Given the description of an element on the screen output the (x, y) to click on. 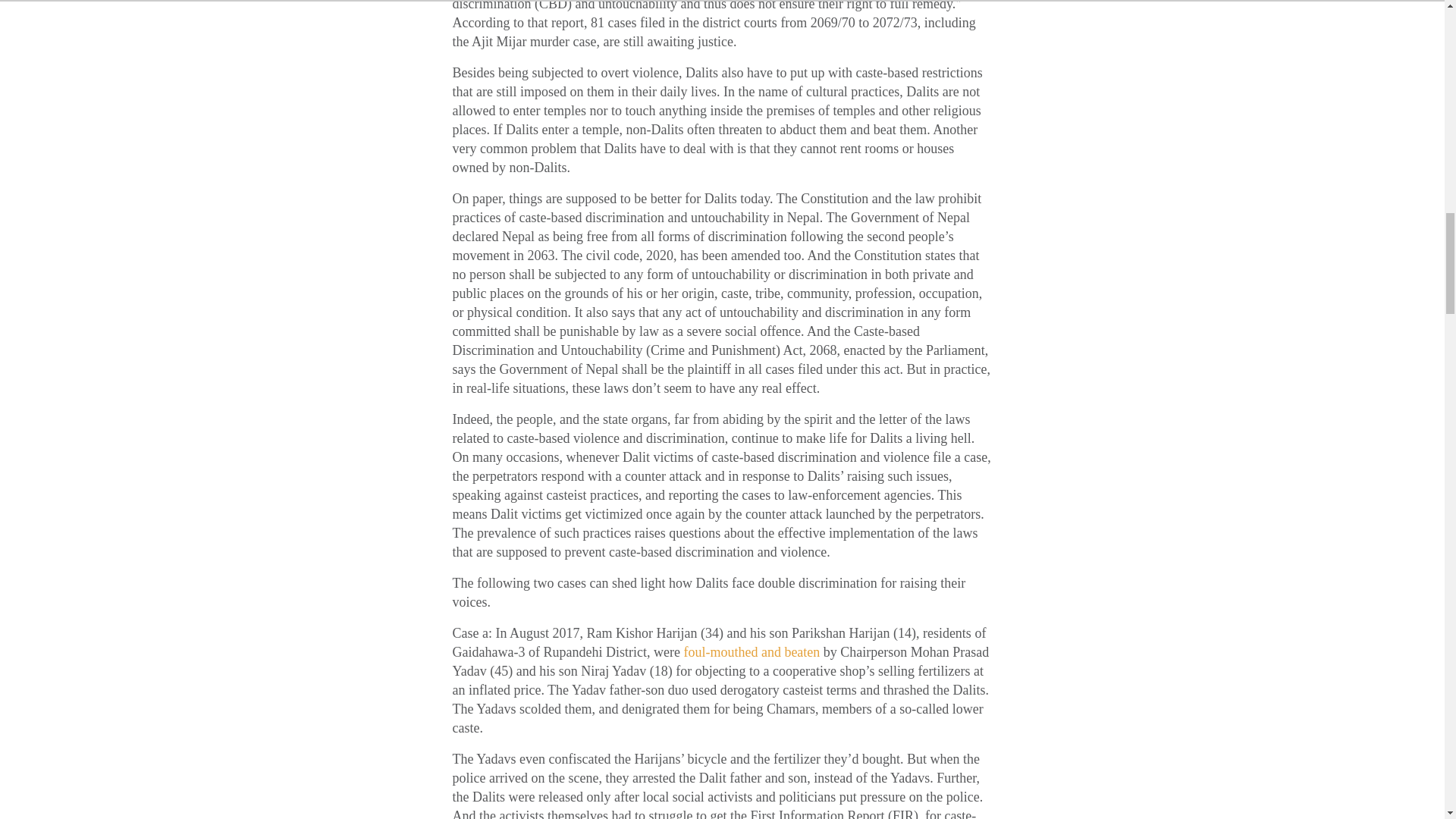
 foul-mouthed and beaten (749, 652)
